Given the description of an element on the screen output the (x, y) to click on. 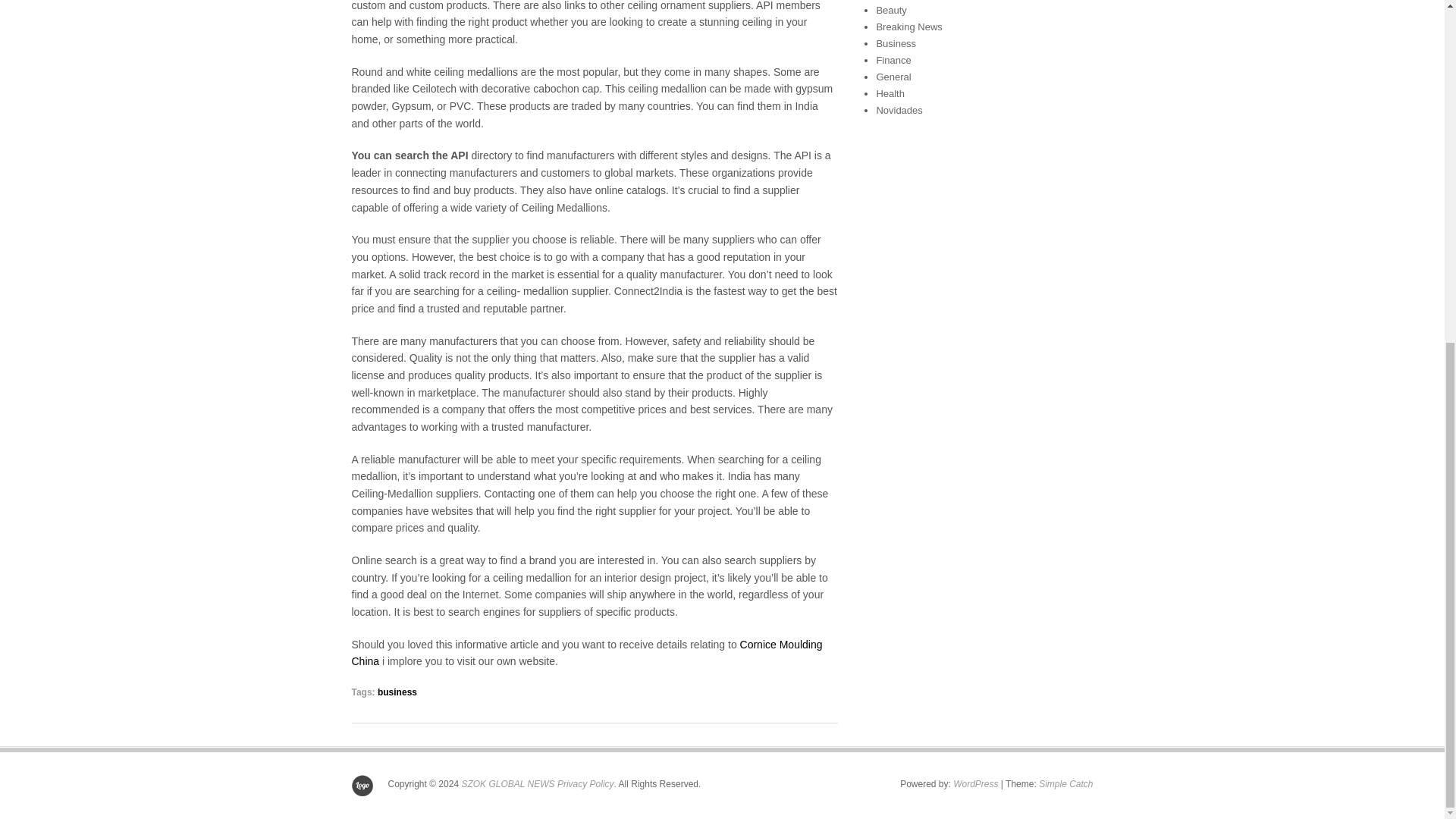
SZOK GLOBAL NEWS (507, 783)
Simple Catch (1066, 783)
Privacy Policy (585, 783)
Health (890, 93)
WordPress (975, 783)
Beauty (890, 9)
Simple Catch (1066, 783)
Finance (893, 60)
business (396, 692)
Business (895, 43)
Breaking News (909, 26)
Novidades (898, 110)
General (893, 76)
SZOK GLOBAL NEWS (507, 783)
WordPress (975, 783)
